Given the description of an element on the screen output the (x, y) to click on. 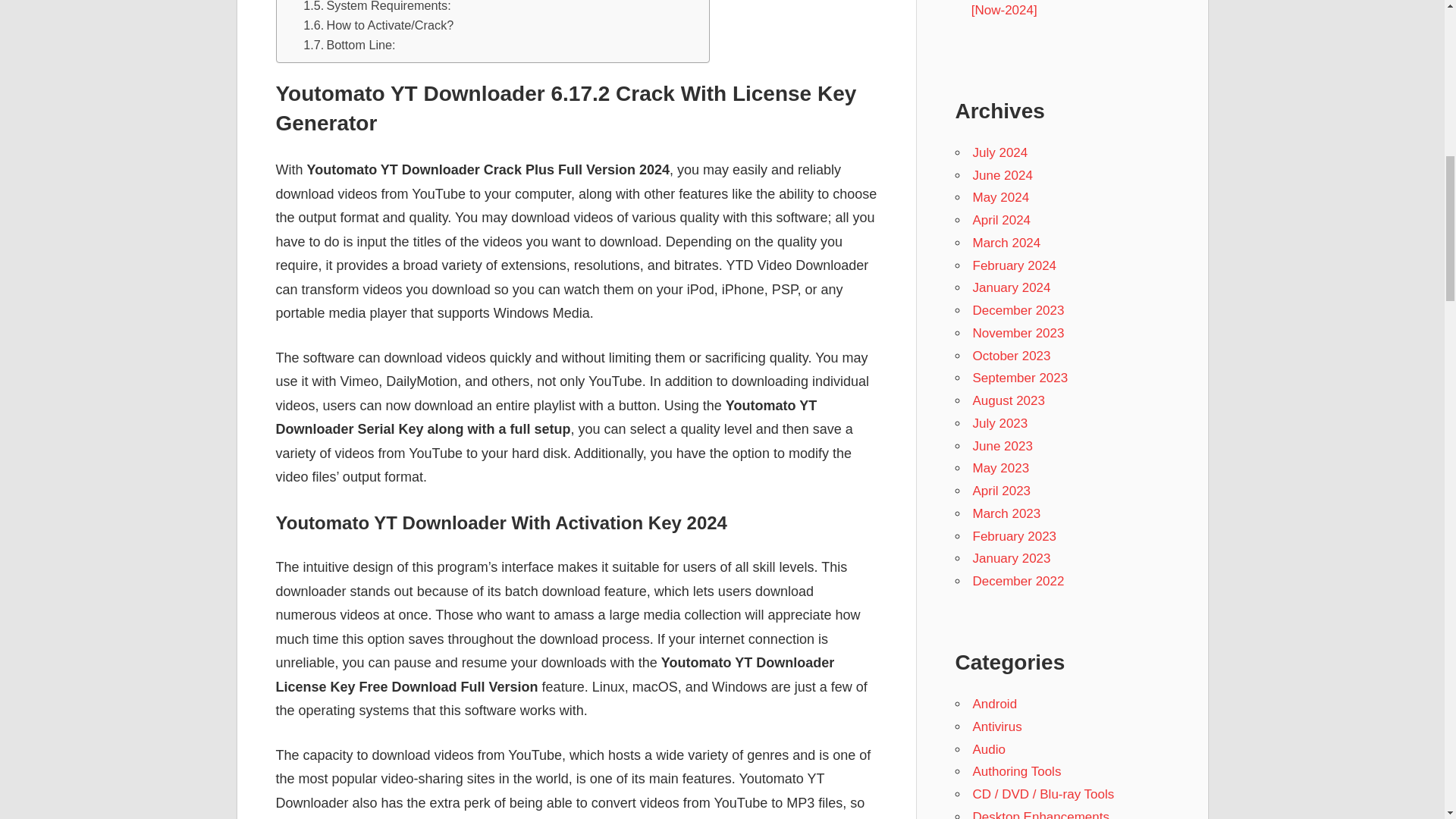
October 2023 (1010, 355)
June 2024 (1002, 175)
November 2023 (1018, 332)
December 2023 (1018, 310)
March 2024 (1006, 242)
February 2024 (1014, 265)
System Requirements: (376, 7)
April 2024 (1001, 219)
January 2024 (1010, 287)
September 2023 (1019, 377)
Bottom Line: (348, 44)
July 2024 (999, 152)
May 2024 (1000, 197)
Bottom Line: (348, 44)
System Requirements: (376, 7)
